Given the description of an element on the screen output the (x, y) to click on. 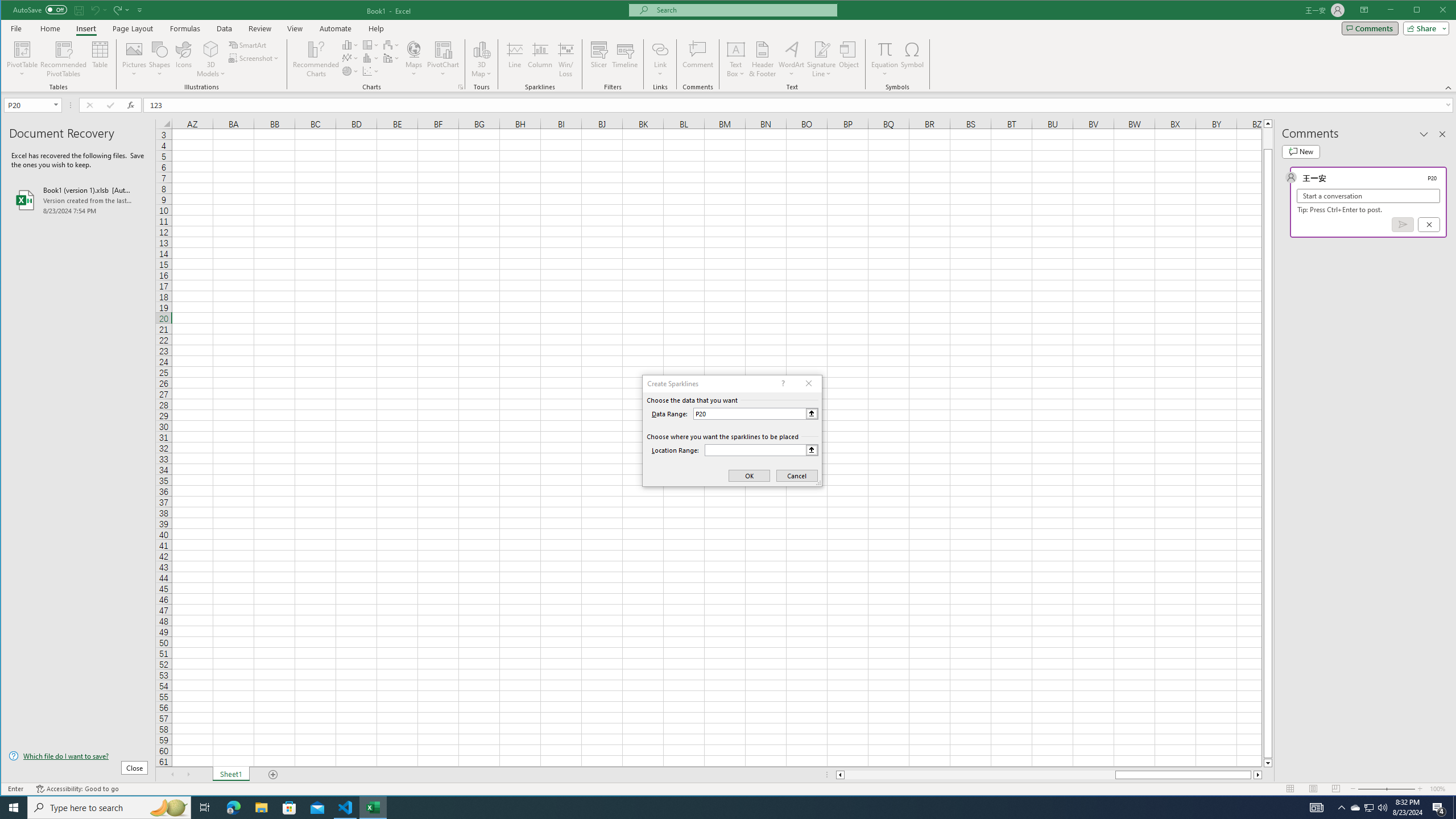
Signature Line (821, 59)
